Given the description of an element on the screen output the (x, y) to click on. 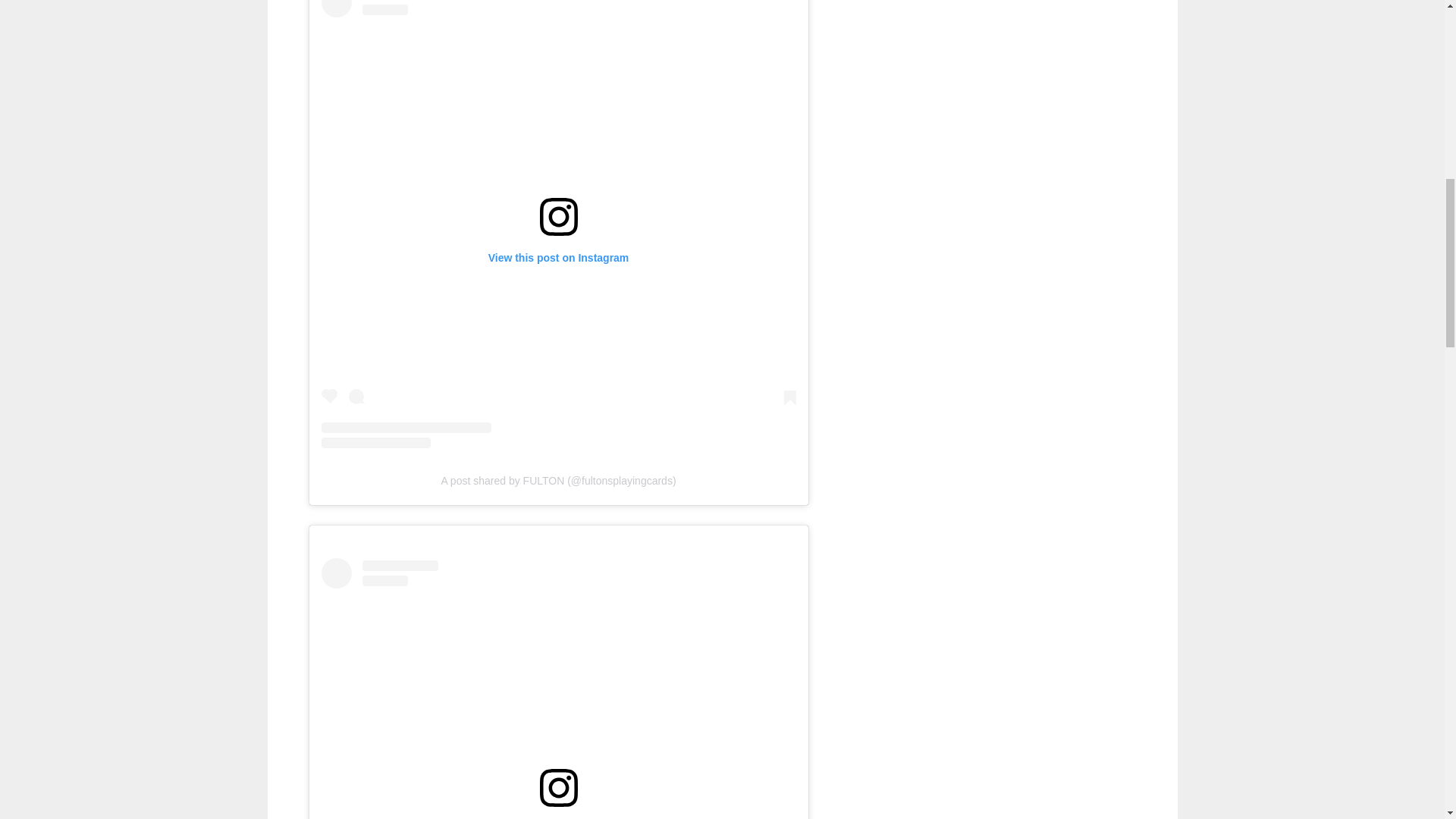
View this post on Instagram (558, 688)
